Given the description of an element on the screen output the (x, y) to click on. 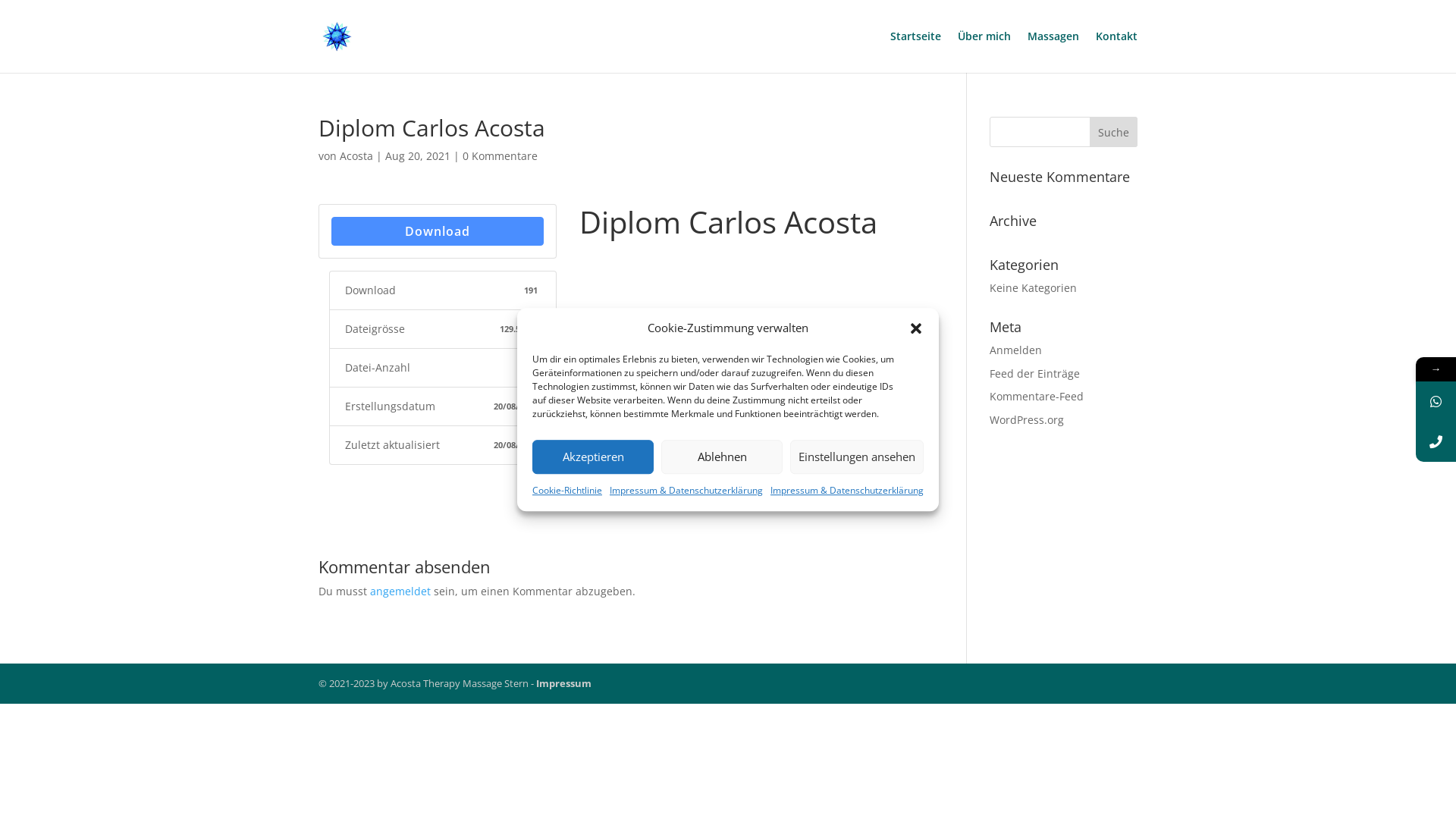
0 Kommentare Element type: text (499, 155)
Startseite Element type: text (915, 51)
Kommentare-Feed Element type: text (1036, 396)
Akzeptieren Element type: text (592, 456)
Acosta Element type: text (356, 155)
Ablehnen Element type: text (721, 456)
angemeldet Element type: text (400, 590)
Anmelden Element type: text (1015, 349)
Suche Element type: text (1113, 131)
Kontakt Element type: text (1116, 51)
WordPress.org Element type: text (1026, 419)
Cookie-Richtlinie Element type: text (567, 490)
Impressum Element type: text (563, 683)
Download Element type: text (437, 230)
Einstellungen ansehen Element type: text (856, 456)
Massagen Element type: text (1053, 51)
